Given the description of an element on the screen output the (x, y) to click on. 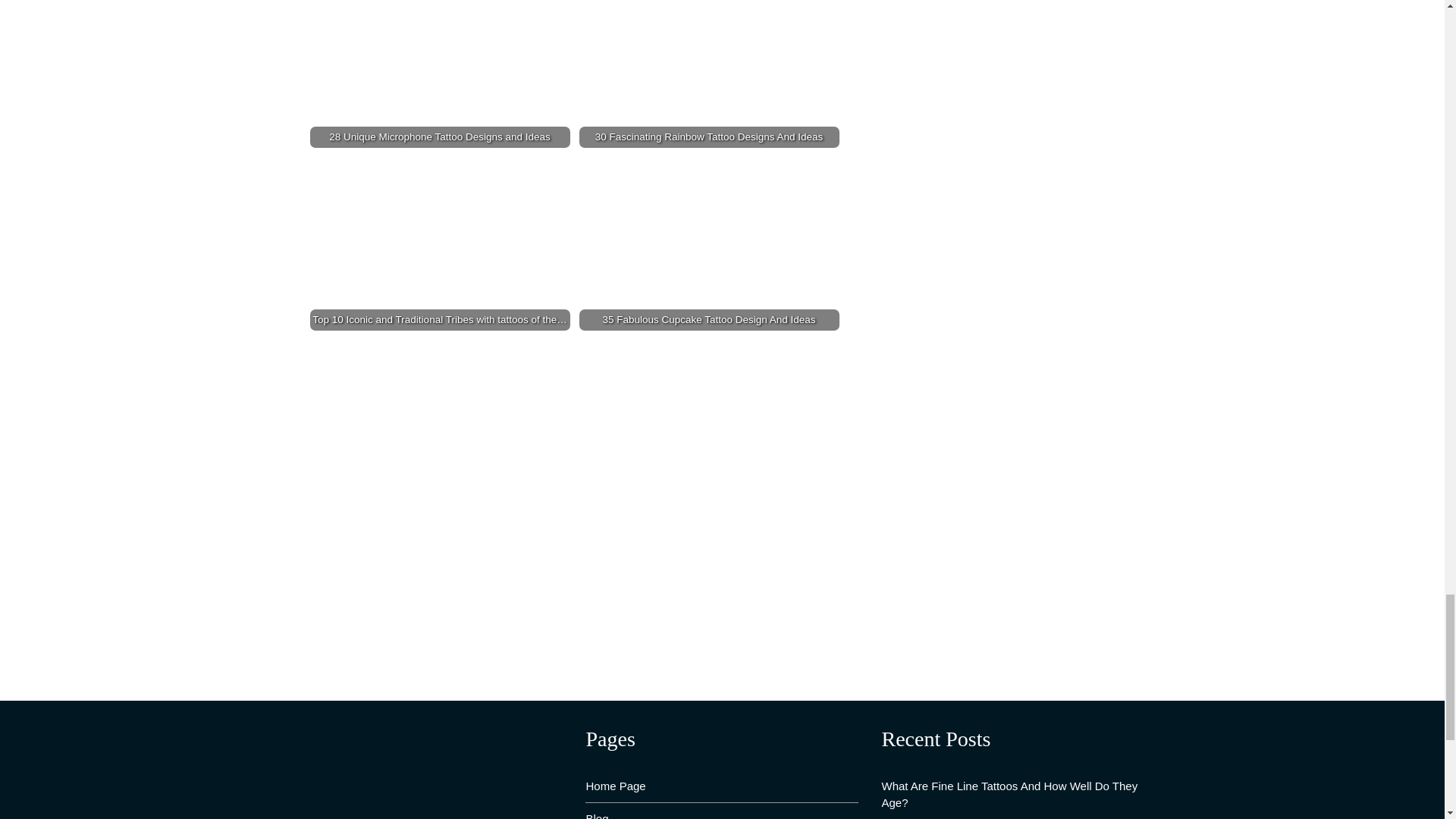
30 Fascinating Rainbow Tattoo Designs And Ideas (709, 74)
35 Fabulous Cupcake Tattoo Design And Ideas (709, 243)
28 Unique Microphone Tattoo Designs and Ideas (438, 74)
